Given the description of an element on the screen output the (x, y) to click on. 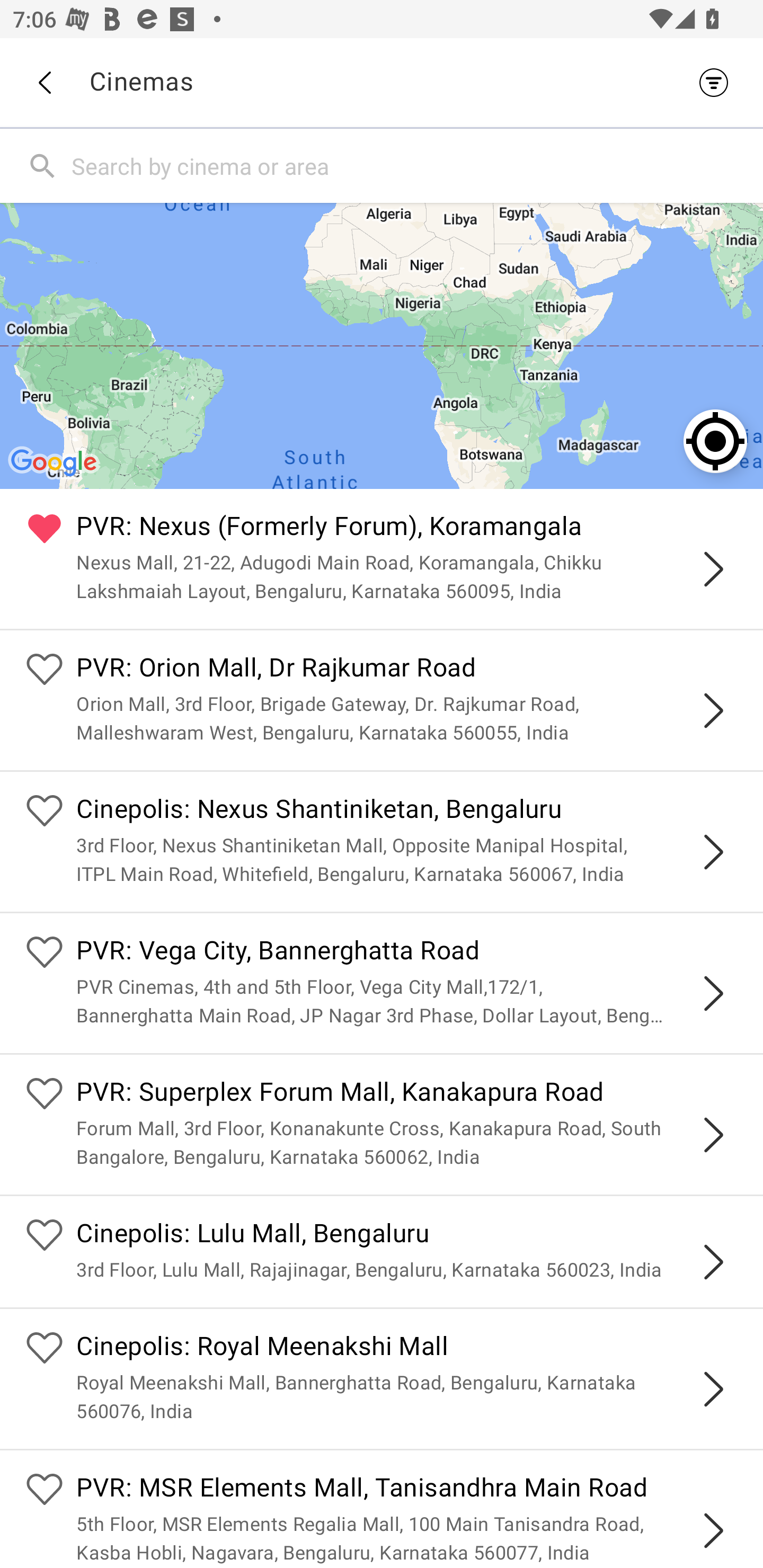
Back Cinemas Filter (381, 82)
Filter (718, 82)
Back (44, 82)
Search by cinema or area (413, 165)
Google Map (381, 345)
PVR: Nexus (Formerly Forum), Koramangala (406, 528)
 (713, 568)
PVR: Orion Mall, Dr Rajkumar Road (406, 669)
 (713, 710)
Cinepolis: Nexus Shantiniketan, Bengaluru (406, 810)
 (713, 851)
PVR: Vega City, Bannerghatta Road (406, 952)
 (713, 993)
PVR: Superplex Forum Mall, Kanakapura Road (406, 1094)
 (713, 1134)
Cinepolis: Lulu Mall, Bengaluru (406, 1235)
 (713, 1261)
Cinepolis: Royal Meenakshi Mall (406, 1348)
 (713, 1388)
PVR: MSR Elements Mall, Tanisandhra Main Road (406, 1489)
 (713, 1530)
